Given the description of an element on the screen output the (x, y) to click on. 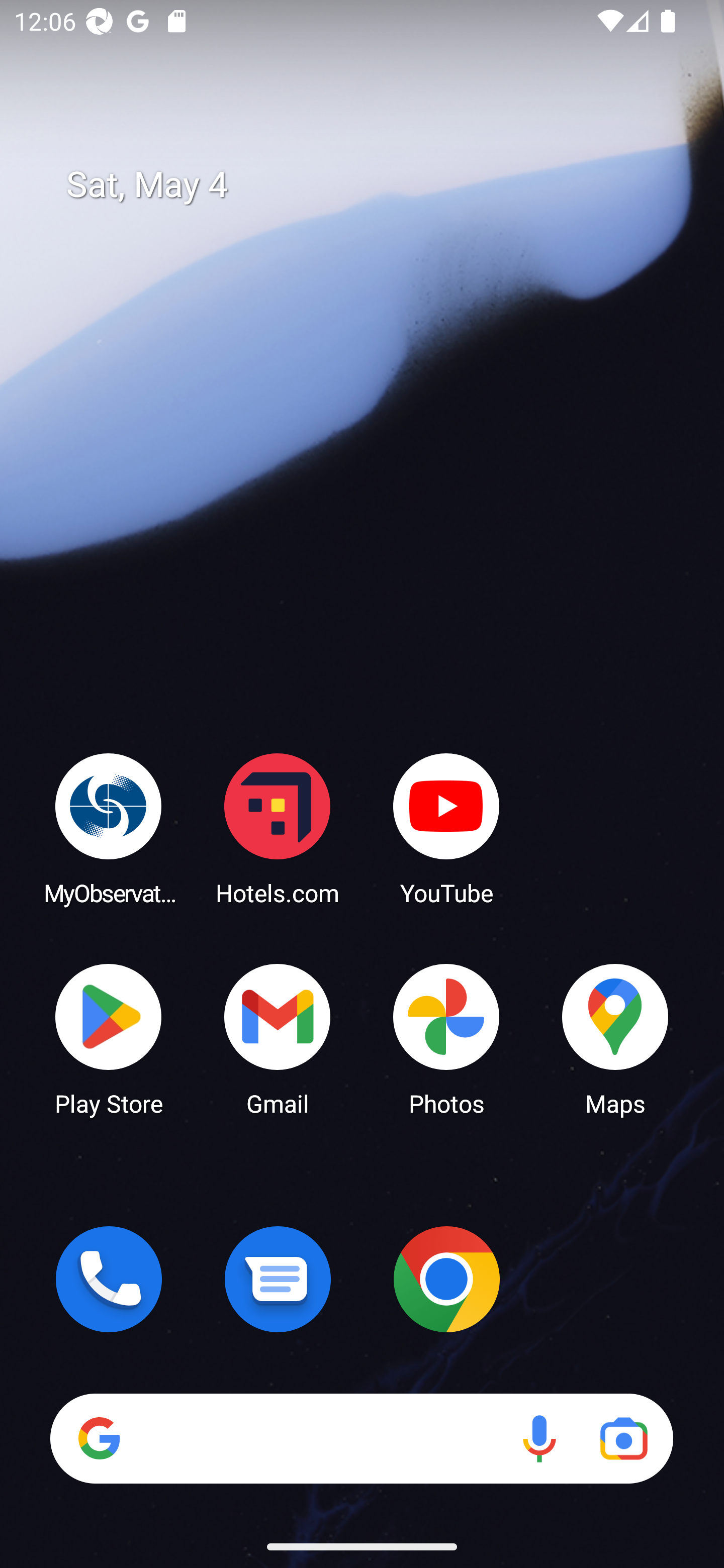
Sat, May 4 (375, 184)
MyObservatory (108, 828)
Hotels.com (277, 828)
YouTube (445, 828)
Play Store (108, 1038)
Gmail (277, 1038)
Photos (445, 1038)
Maps (615, 1038)
Phone (108, 1279)
Messages (277, 1279)
Chrome (446, 1279)
Search Voice search Google Lens (361, 1438)
Voice search (539, 1438)
Google Lens (623, 1438)
